Given the description of an element on the screen output the (x, y) to click on. 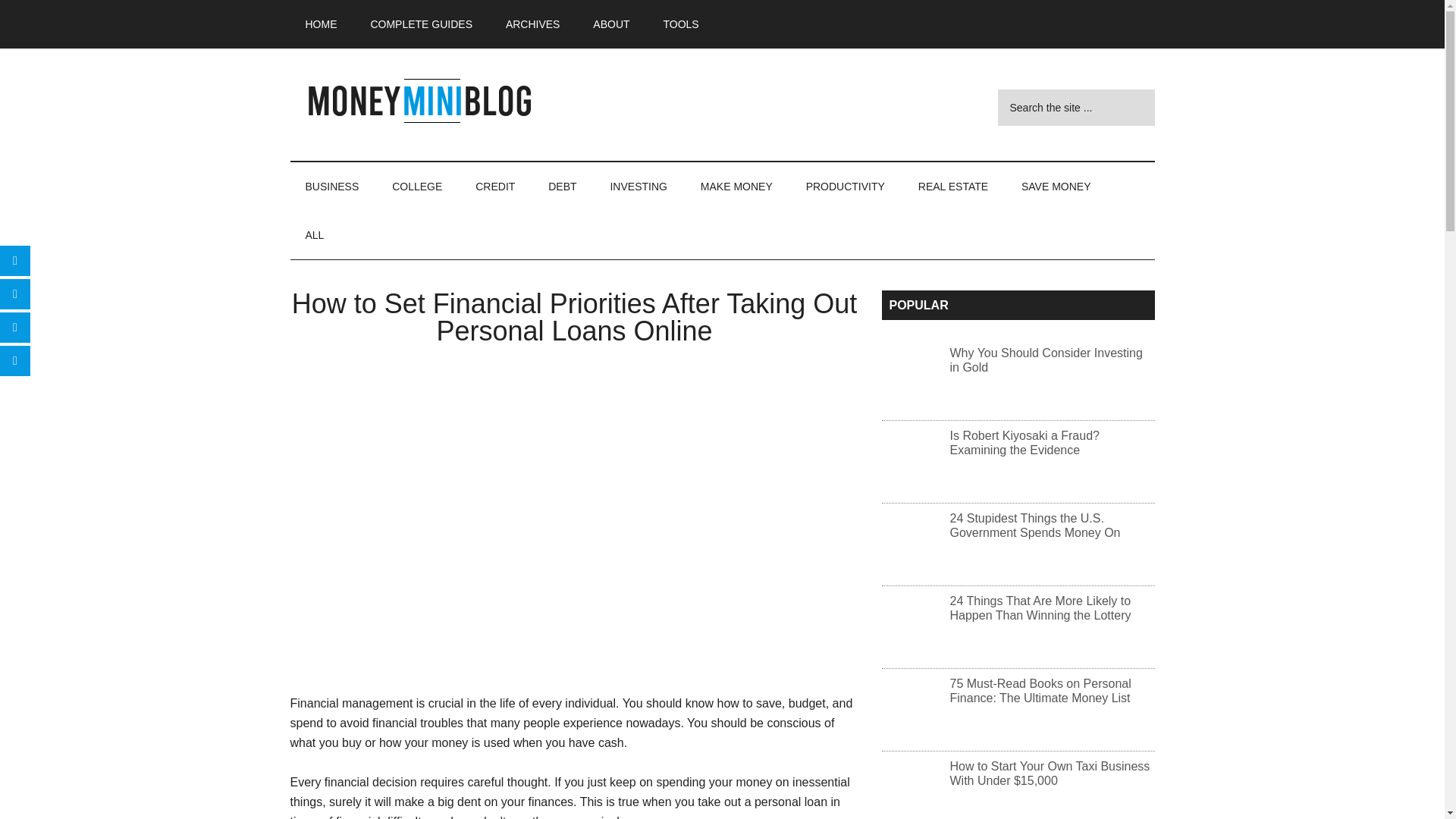
SAVE MONEY (1056, 186)
MAKE MONEY (736, 186)
DEBT (561, 186)
COLLEGE (417, 186)
ABOUT (611, 24)
COMPLETE GUIDES (421, 24)
ALL (314, 234)
ARCHIVES (532, 24)
BUSINESS (331, 186)
CREDIT (494, 186)
INVESTING (637, 186)
HOME (320, 24)
